Given the description of an element on the screen output the (x, y) to click on. 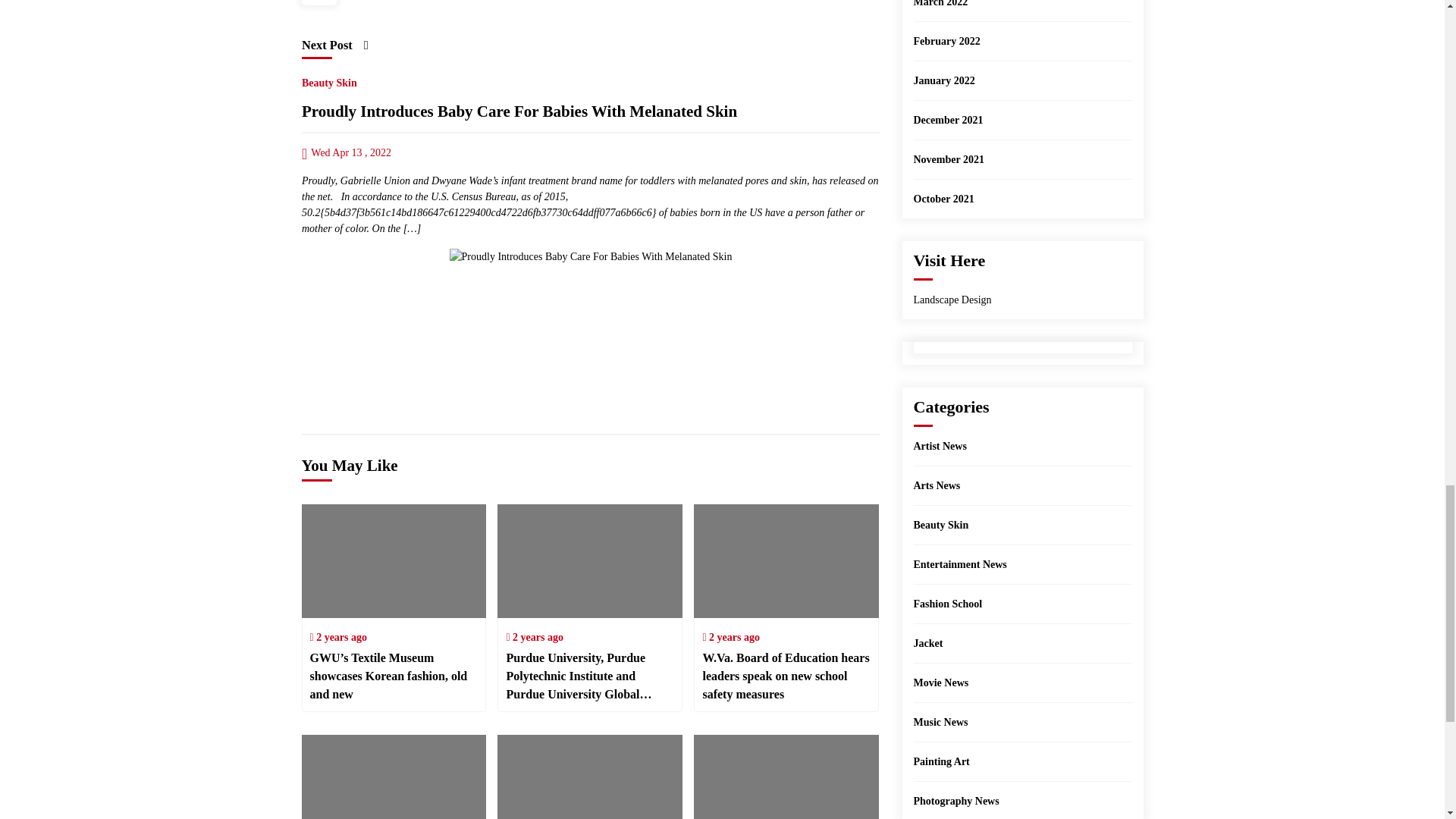
Proudly Introduces Baby Care For Babies With Melanated Skin (590, 256)
